Given the description of an element on the screen output the (x, y) to click on. 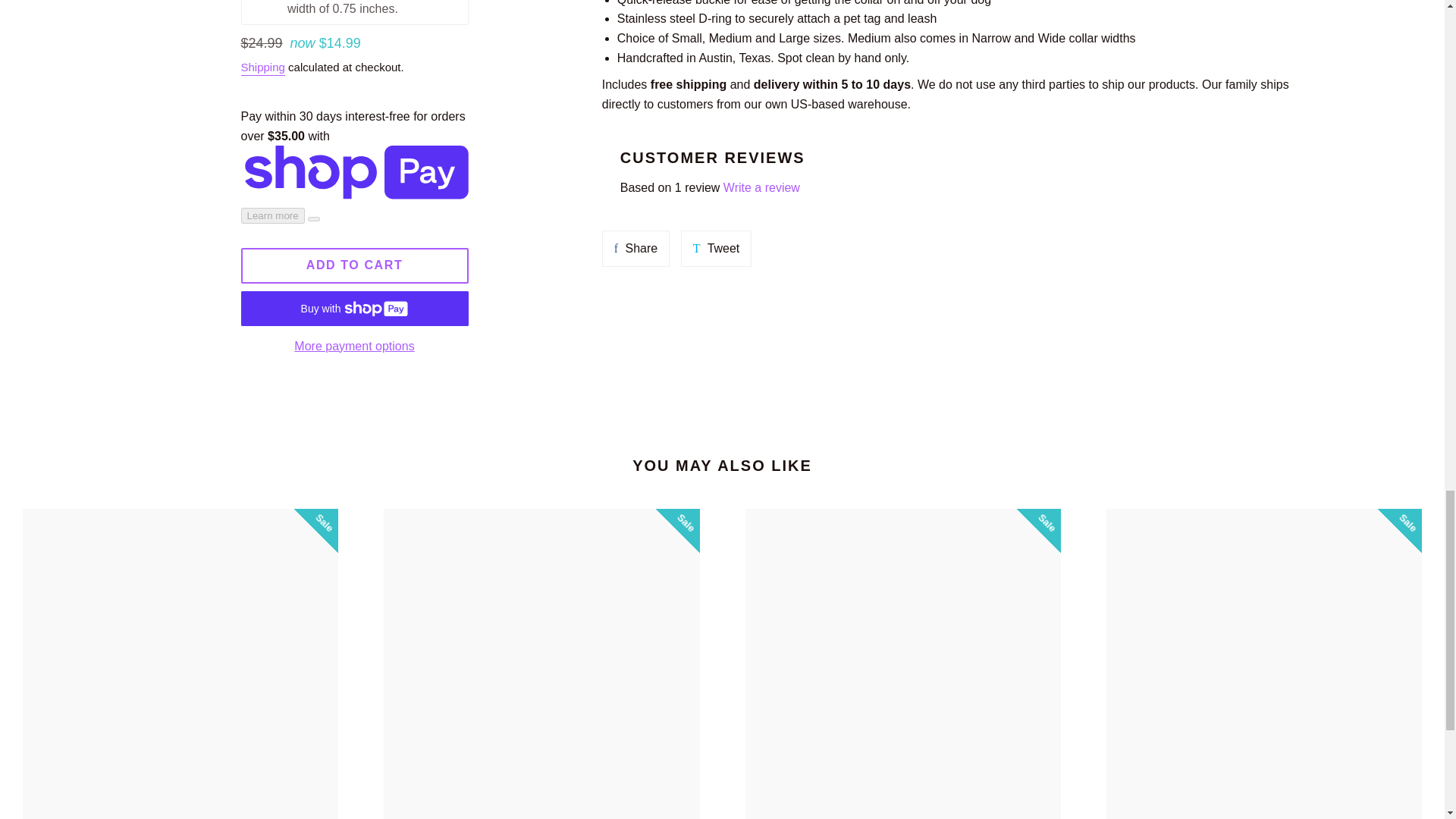
More payment options (354, 346)
Tweet on Twitter (716, 248)
Shipping (263, 68)
ADD TO CART (354, 265)
Share on Facebook (635, 248)
Write a review (635, 248)
